Given the description of an element on the screen output the (x, y) to click on. 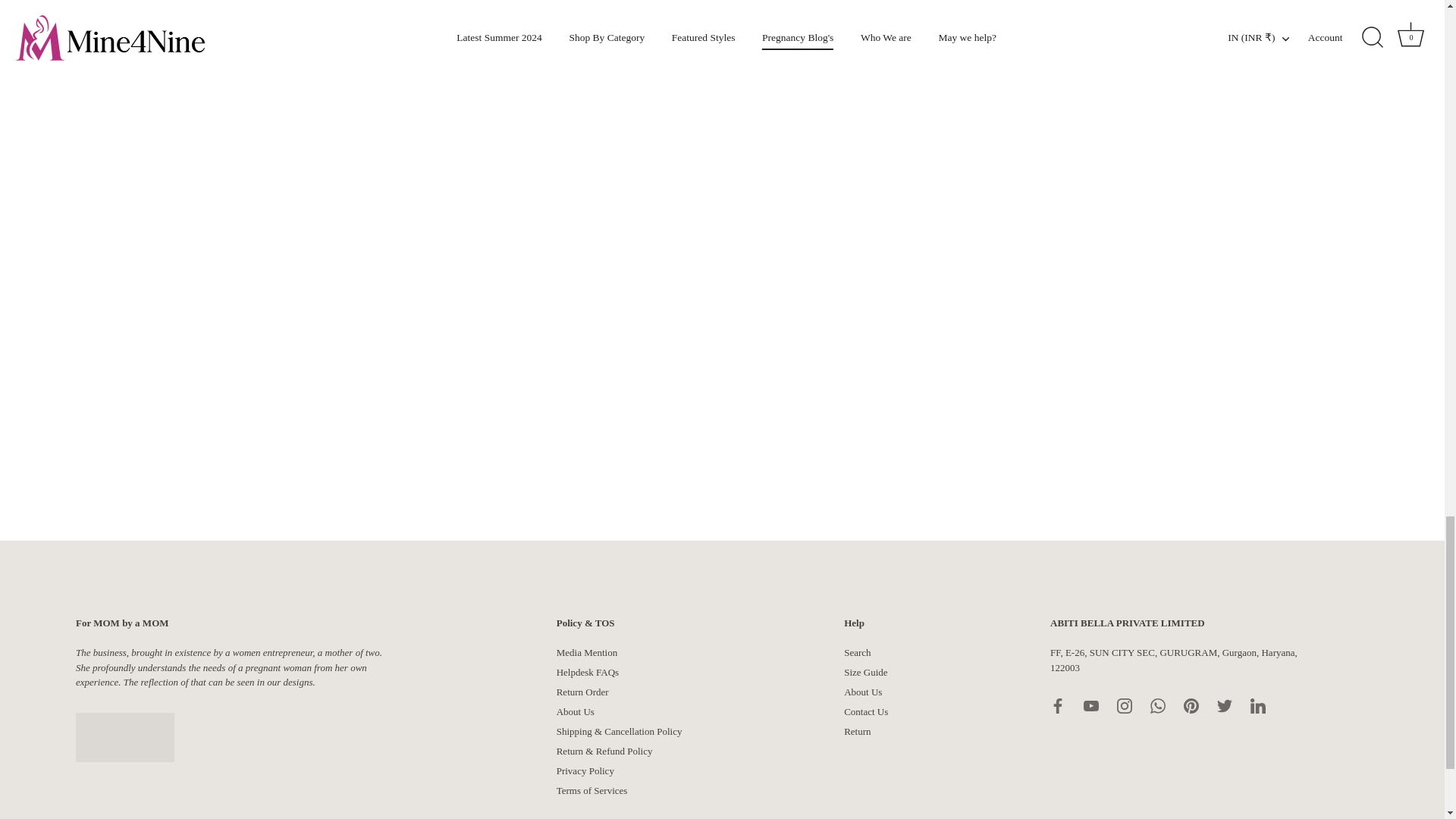
Instagram (1124, 705)
Twitter (1224, 705)
Pinterest (1190, 705)
Youtube (1091, 705)
